Given the description of an element on the screen output the (x, y) to click on. 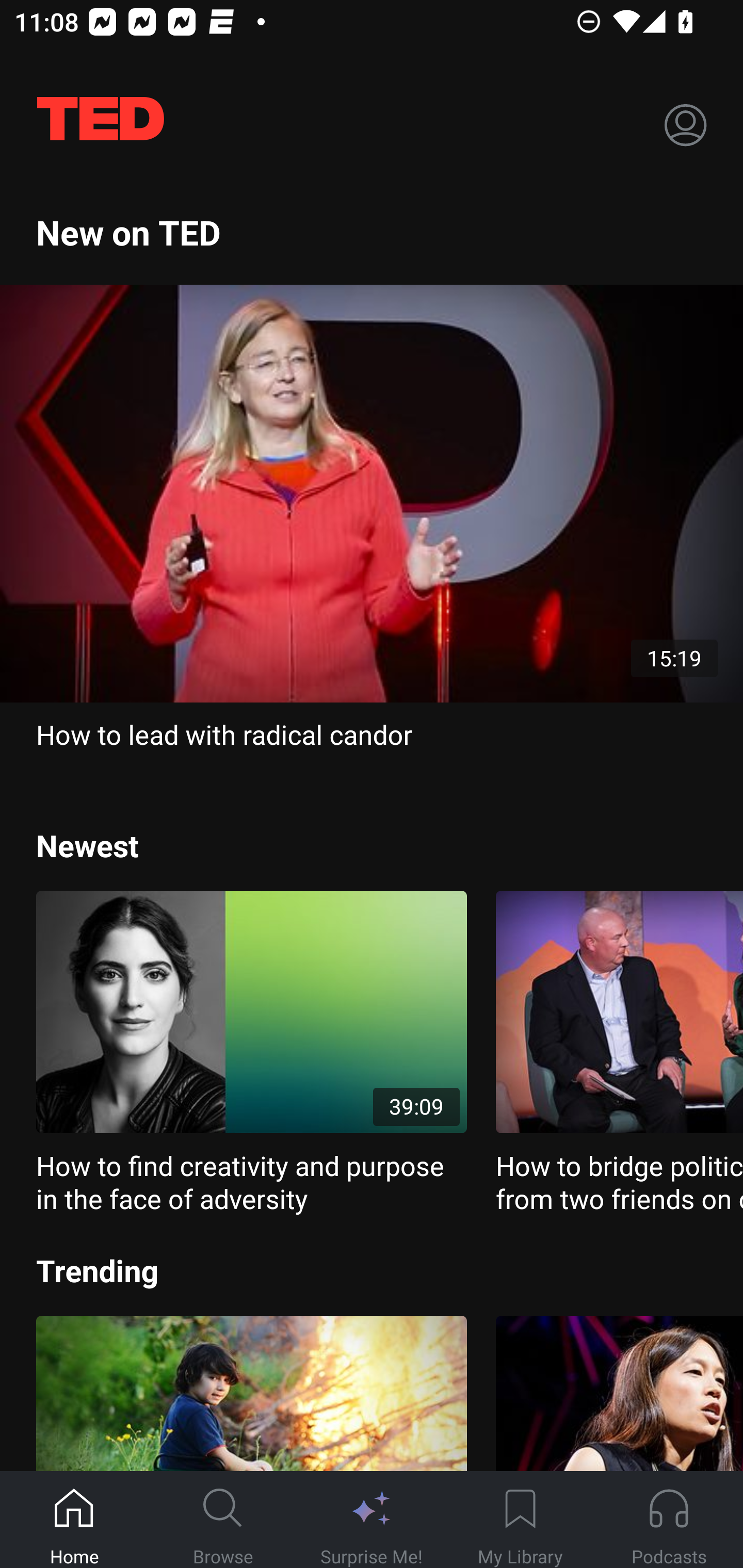
Home (74, 1520)
Browse (222, 1520)
Surprise Me! (371, 1520)
My Library (519, 1520)
Podcasts (668, 1520)
